Given the description of an element on the screen output the (x, y) to click on. 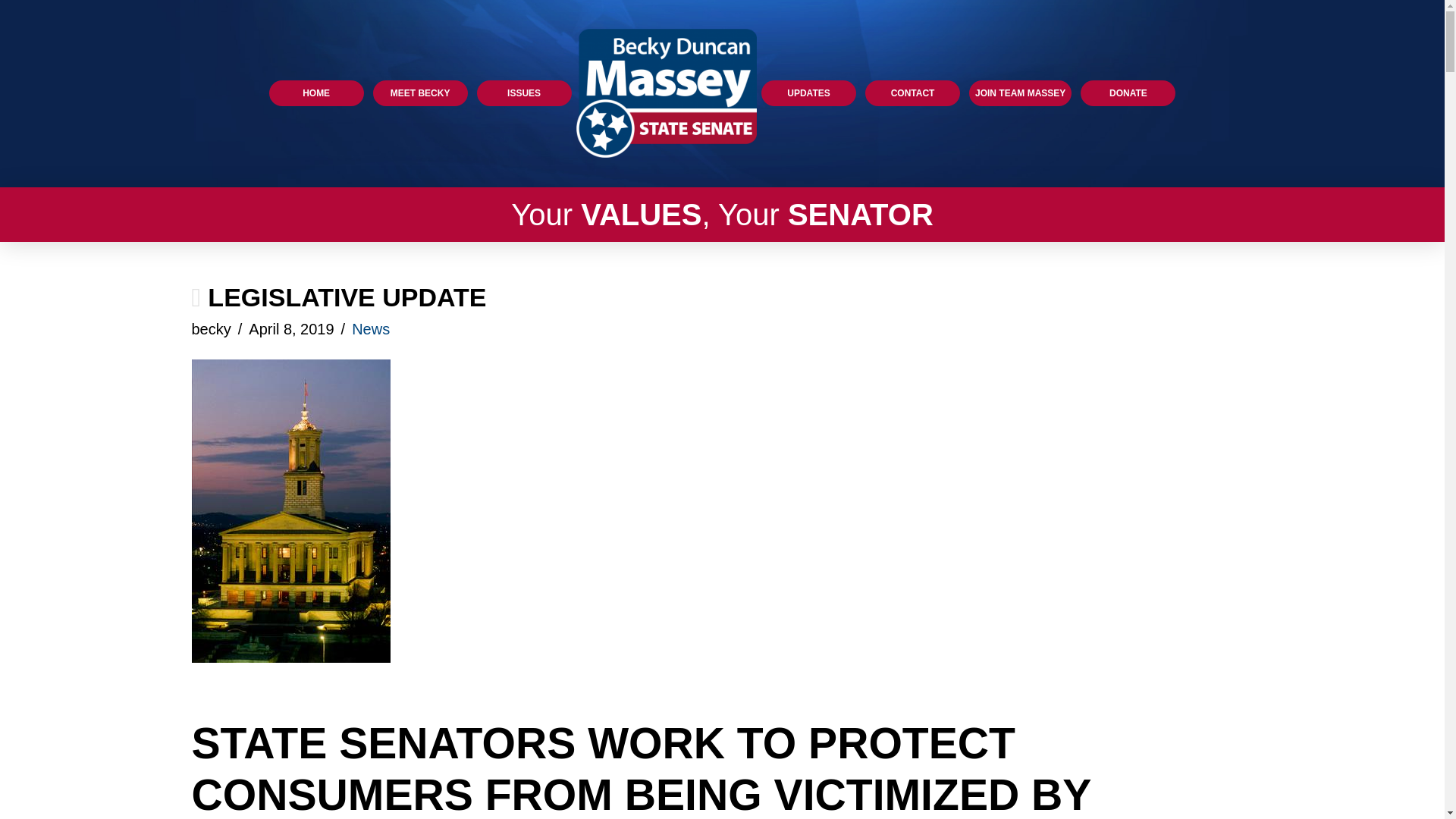
HOME (316, 93)
DONATE (1127, 93)
JOIN TEAM MASSEY (1020, 93)
UPDATES (808, 93)
ISSUES (524, 93)
News (371, 329)
CONTACT (911, 93)
MEET BECKY (419, 93)
